Given the description of an element on the screen output the (x, y) to click on. 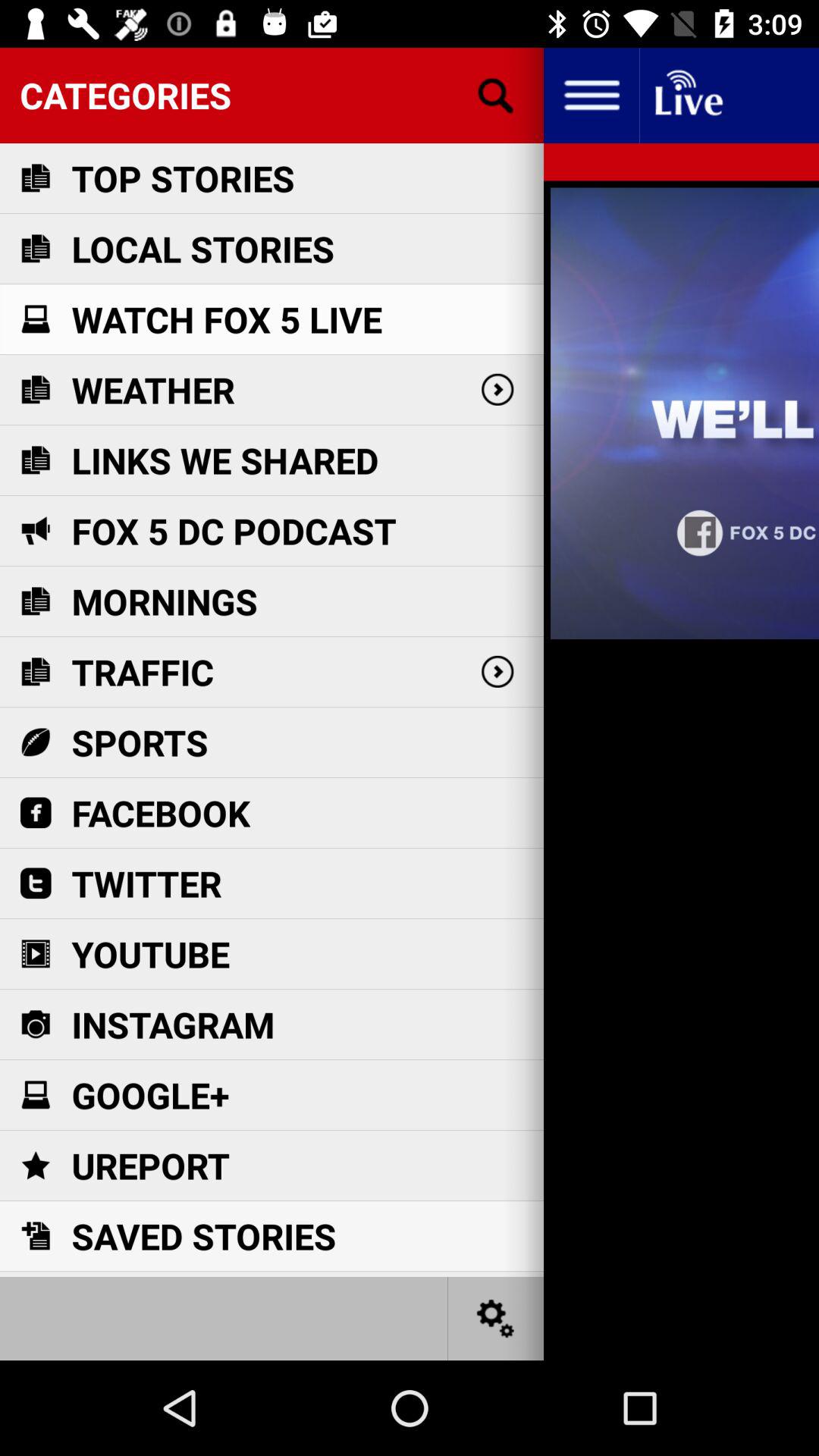
jump to the saved stories (203, 1236)
